Given the description of an element on the screen output the (x, y) to click on. 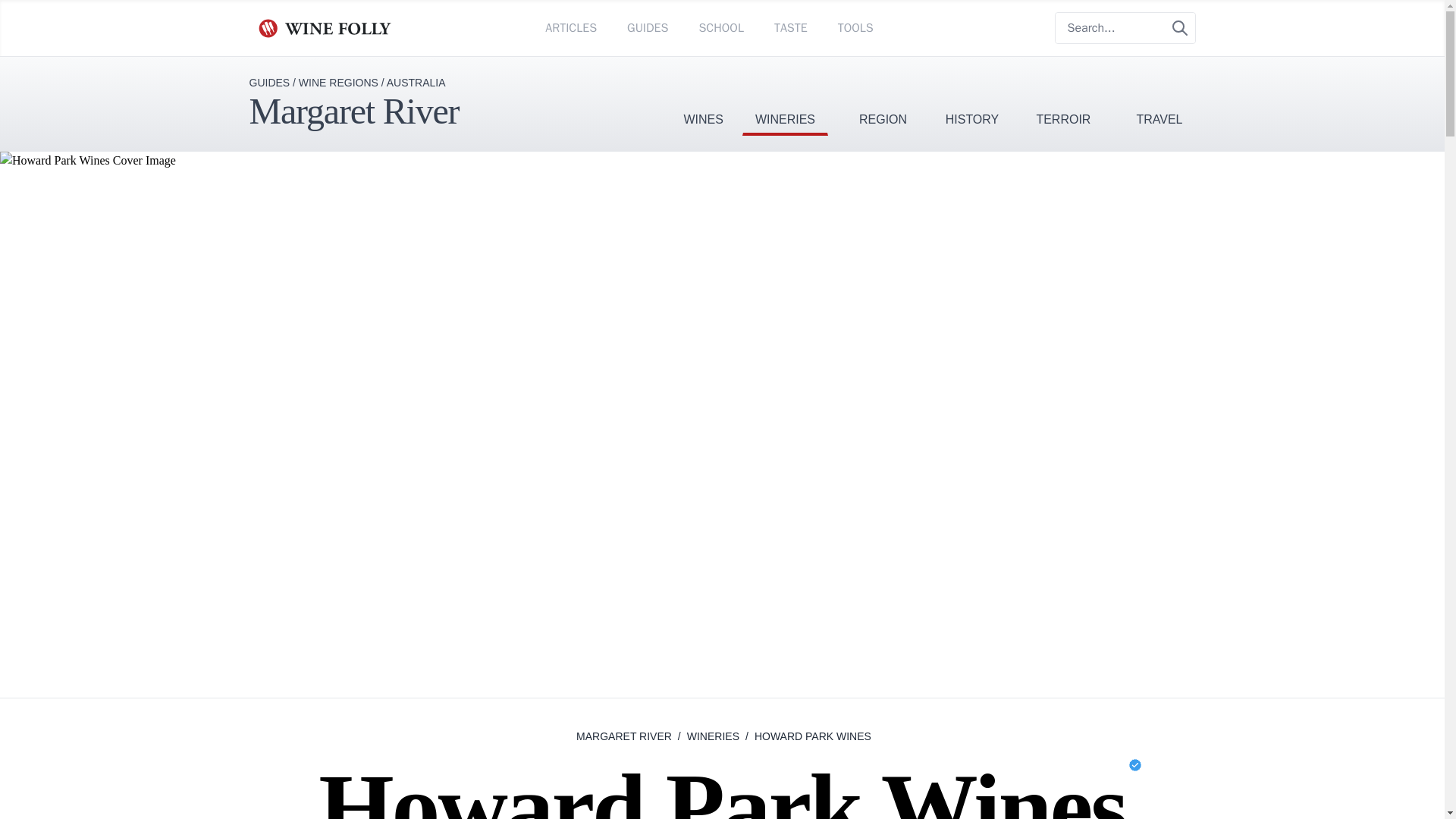
TERROIR (1063, 95)
HISTORY (972, 95)
TRAVEL (1158, 95)
AUSTRALIA (416, 82)
WINERIES (785, 95)
WINE REGIONS (338, 82)
GUIDES (268, 82)
SCHOOL (720, 27)
Verified Organization (1135, 765)
Margaret River (353, 110)
MARGARET RIVER (623, 735)
TOOLS (855, 27)
GUIDES (647, 27)
ARTICLES (570, 27)
REGION (882, 95)
